Given the description of an element on the screen output the (x, y) to click on. 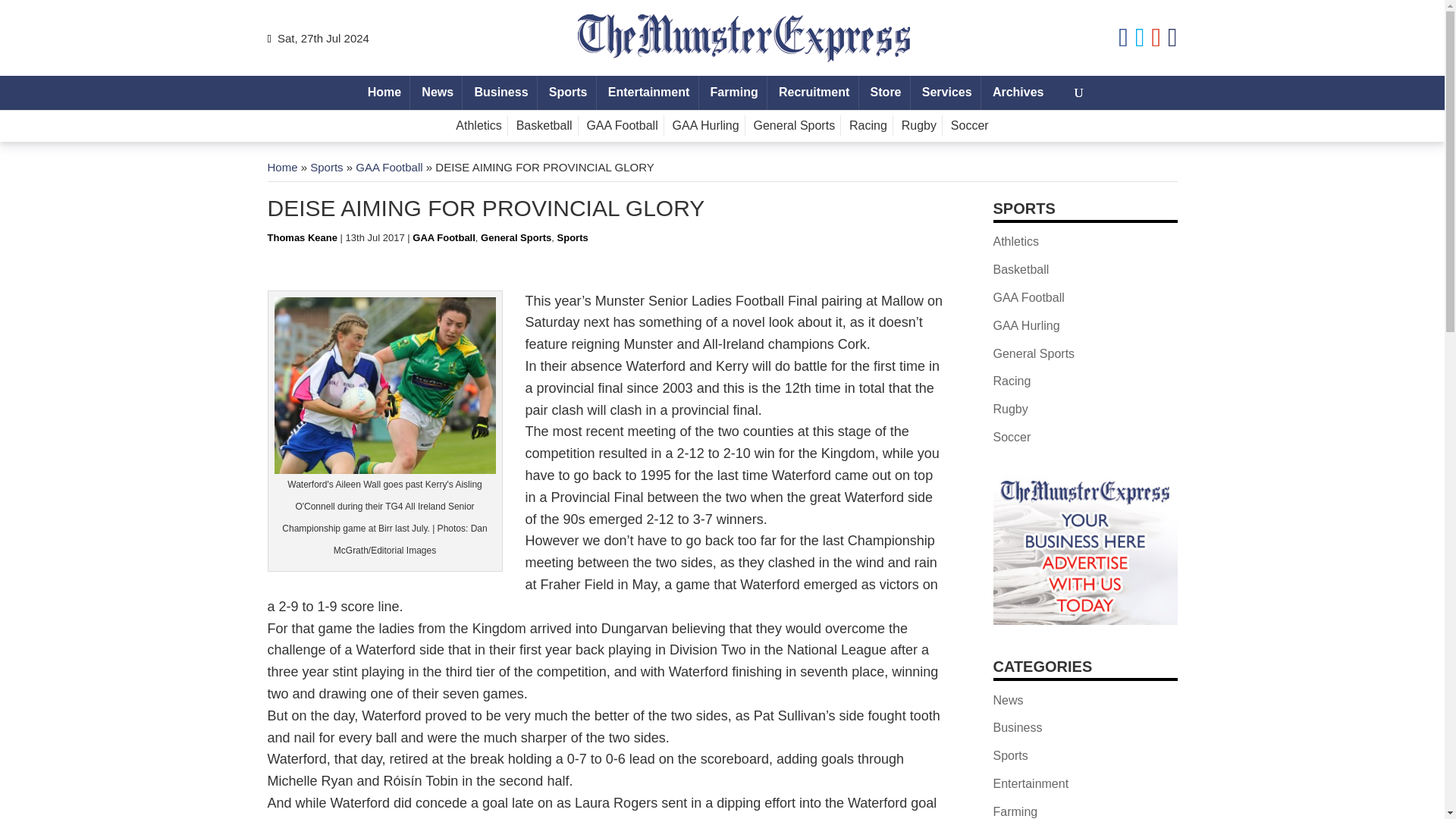
Recruitment (814, 92)
Posts by Thomas Keane (301, 237)
Farming (734, 92)
Services (946, 92)
News (437, 92)
Store (884, 92)
Home (383, 92)
Sports (567, 92)
Business (501, 92)
Entertainment (648, 92)
Archives (1018, 92)
